Given the description of an element on the screen output the (x, y) to click on. 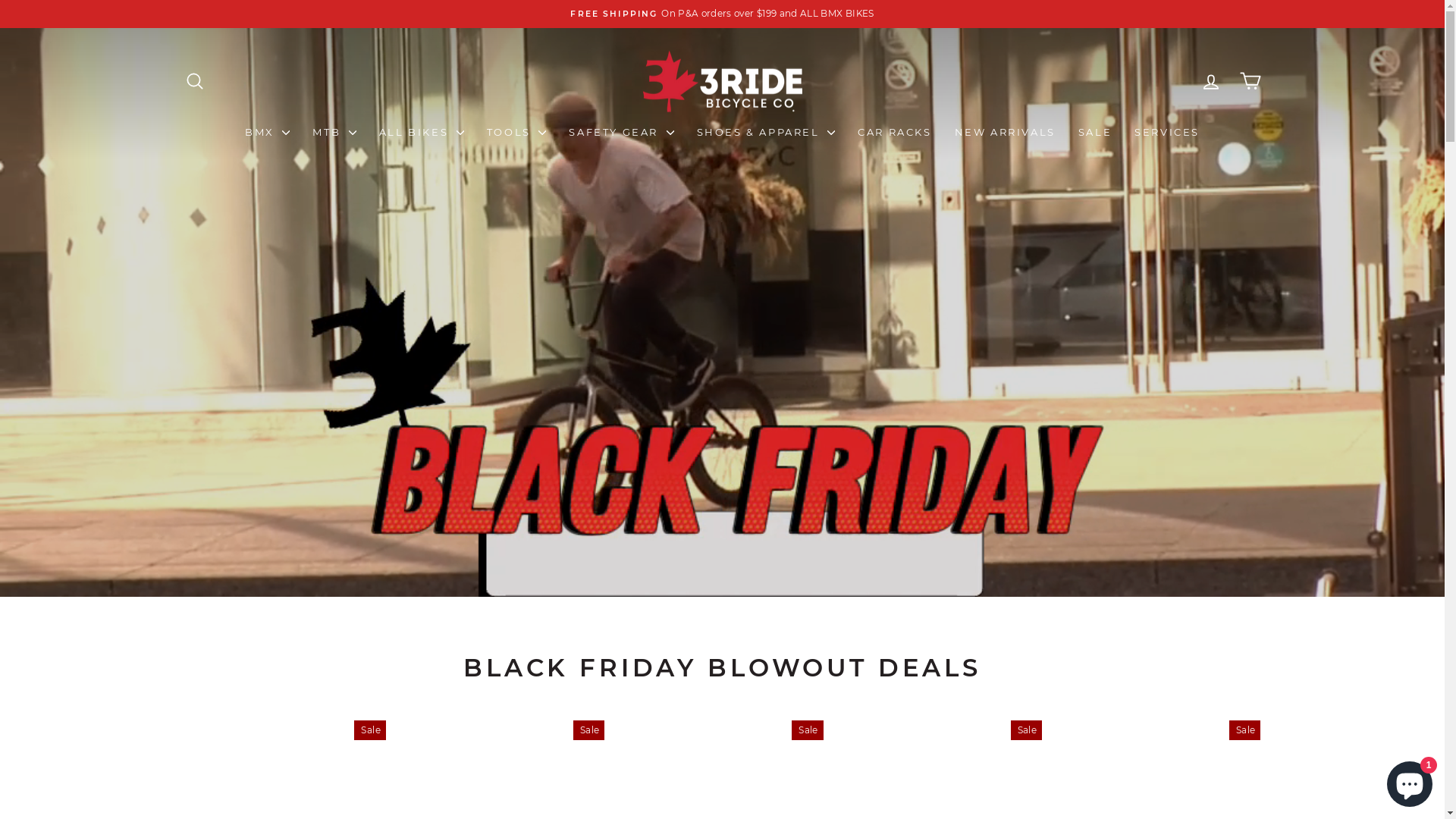
Shopify online store chat Element type: hover (1409, 780)
ICON-SEARCH
SEARCH Element type: text (193, 80)
NEW ARRIVALS Element type: text (1004, 131)
SERVICES Element type: text (1167, 131)
ACCOUNT
LOG IN Element type: text (1210, 80)
SALE Element type: text (1094, 131)
CAR RACKS Element type: text (894, 131)
CART Element type: text (1249, 80)
